Given the description of an element on the screen output the (x, y) to click on. 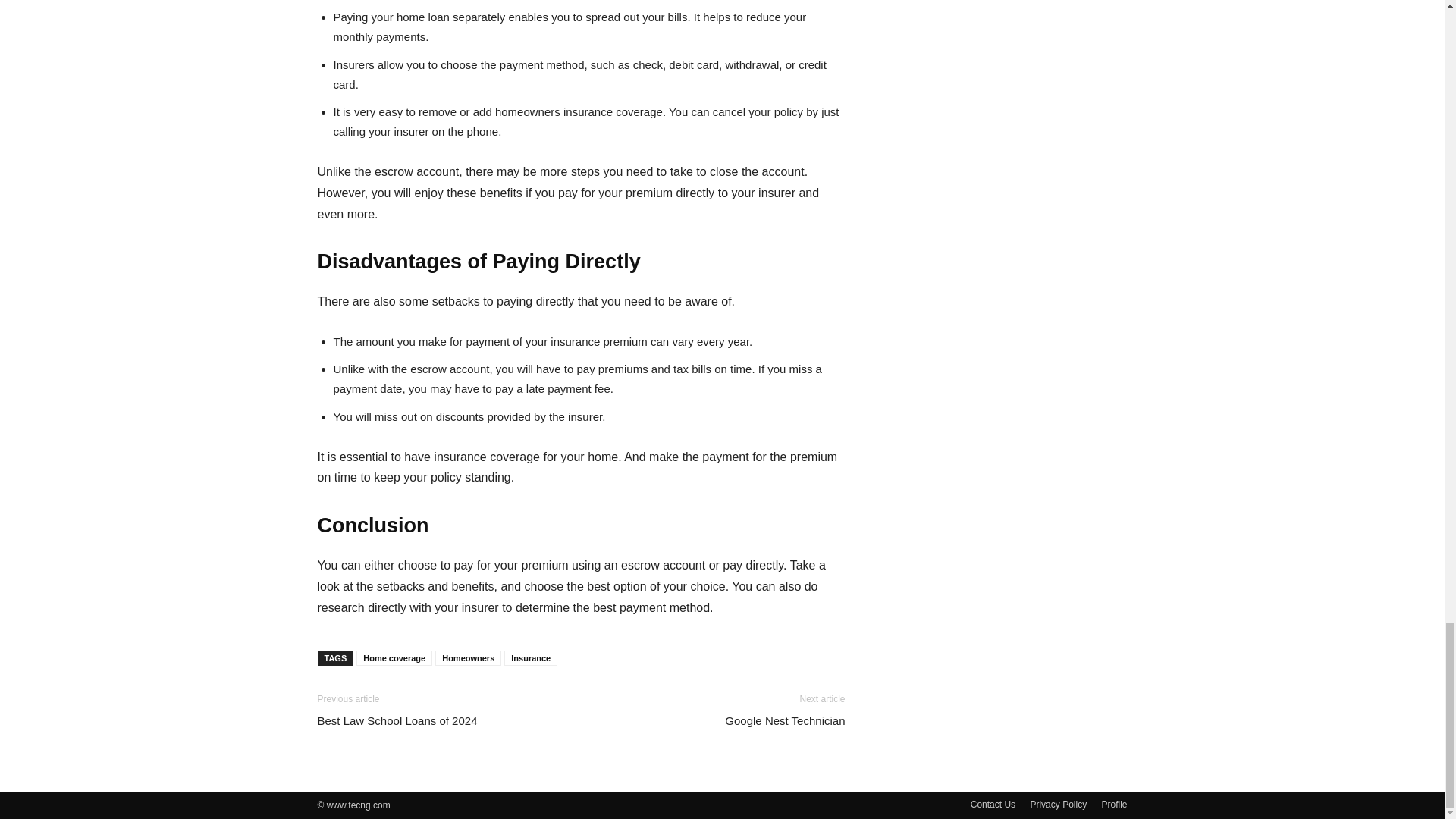
Homeowners (467, 657)
Home coverage (394, 657)
